Given the description of an element on the screen output the (x, y) to click on. 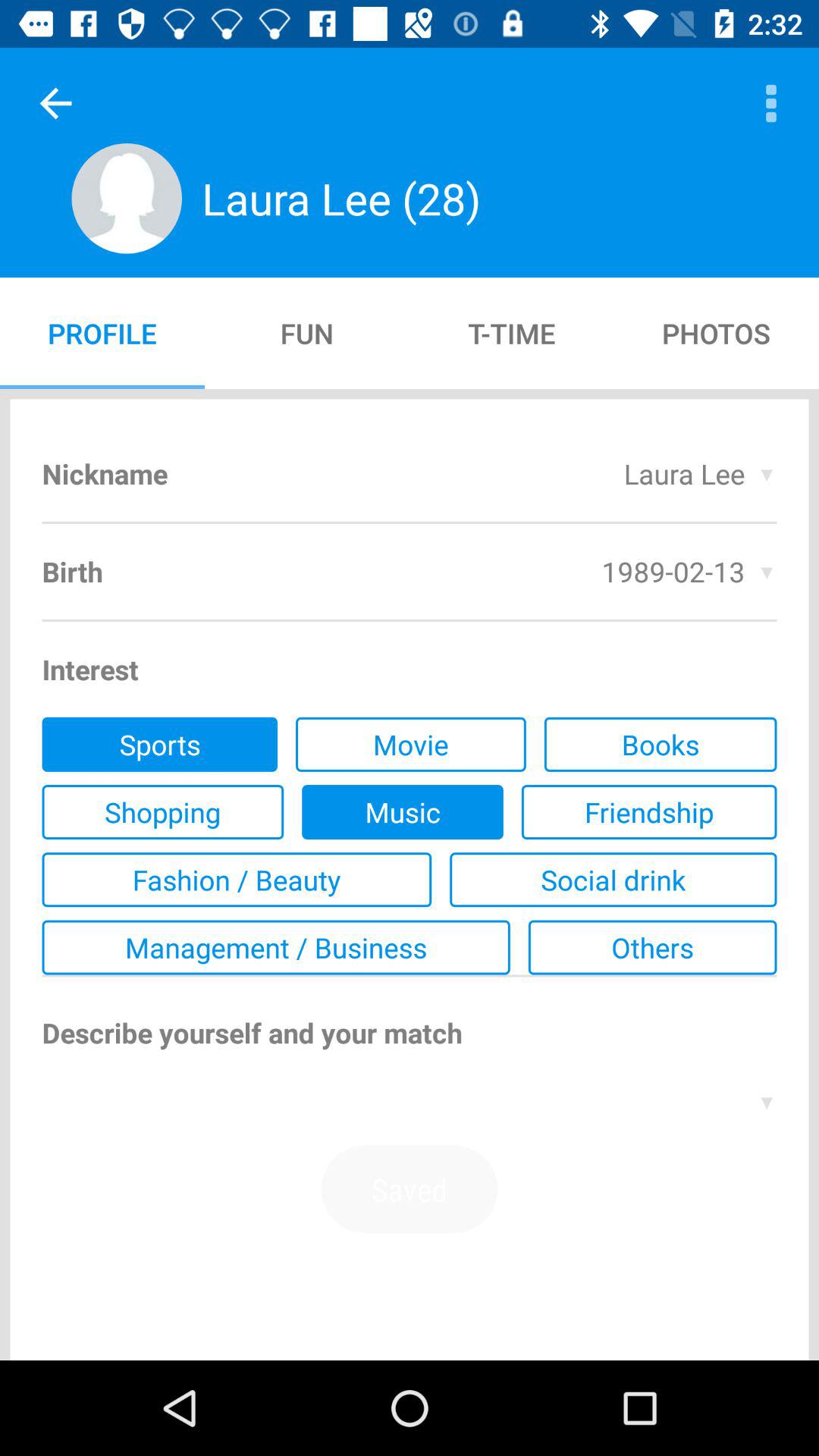
turn on the icon above friendship item (660, 744)
